Given the description of an element on the screen output the (x, y) to click on. 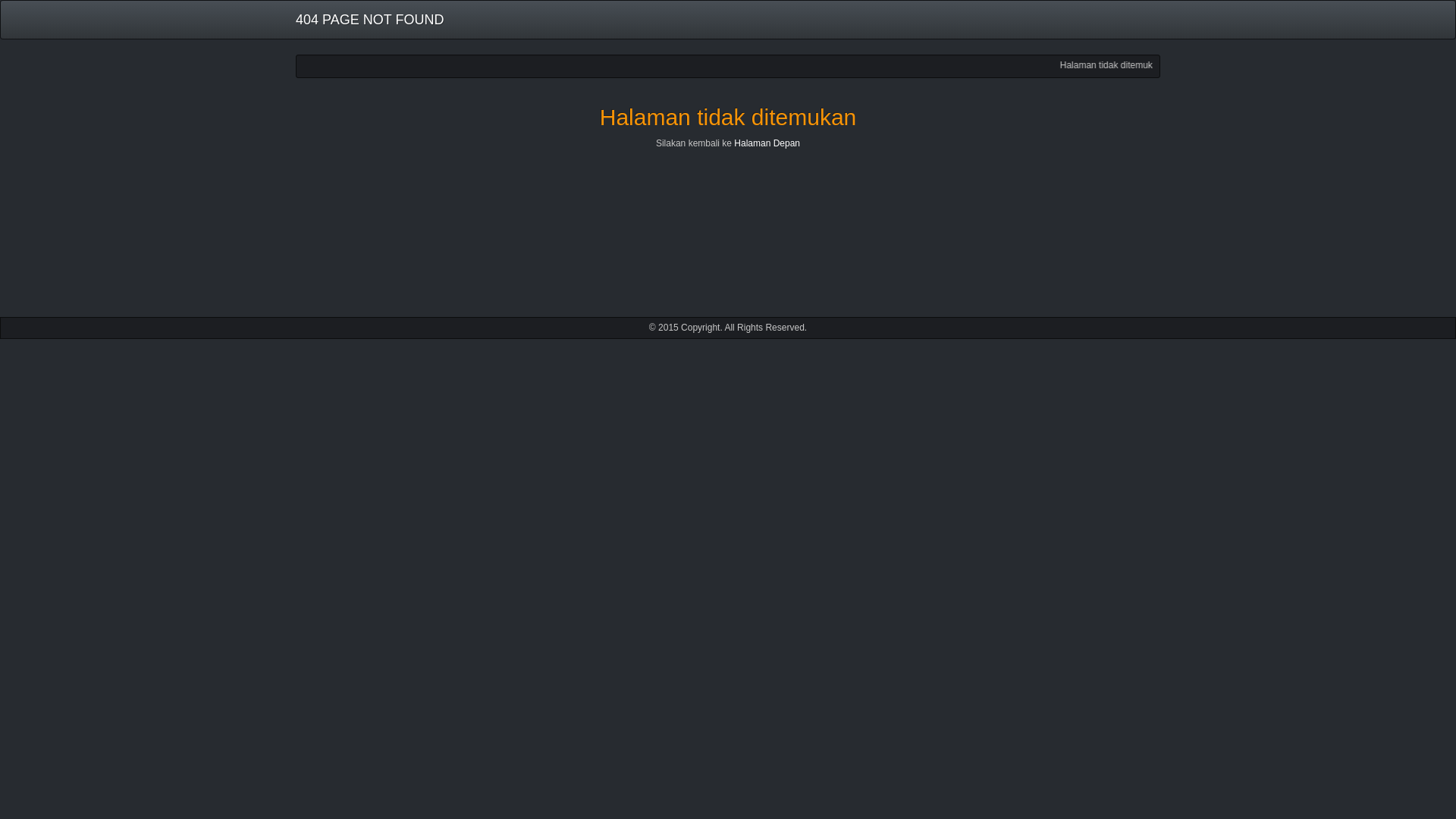
404 PAGE NOT FOUND (368, 19)
Halaman Depan (766, 143)
